Given the description of an element on the screen output the (x, y) to click on. 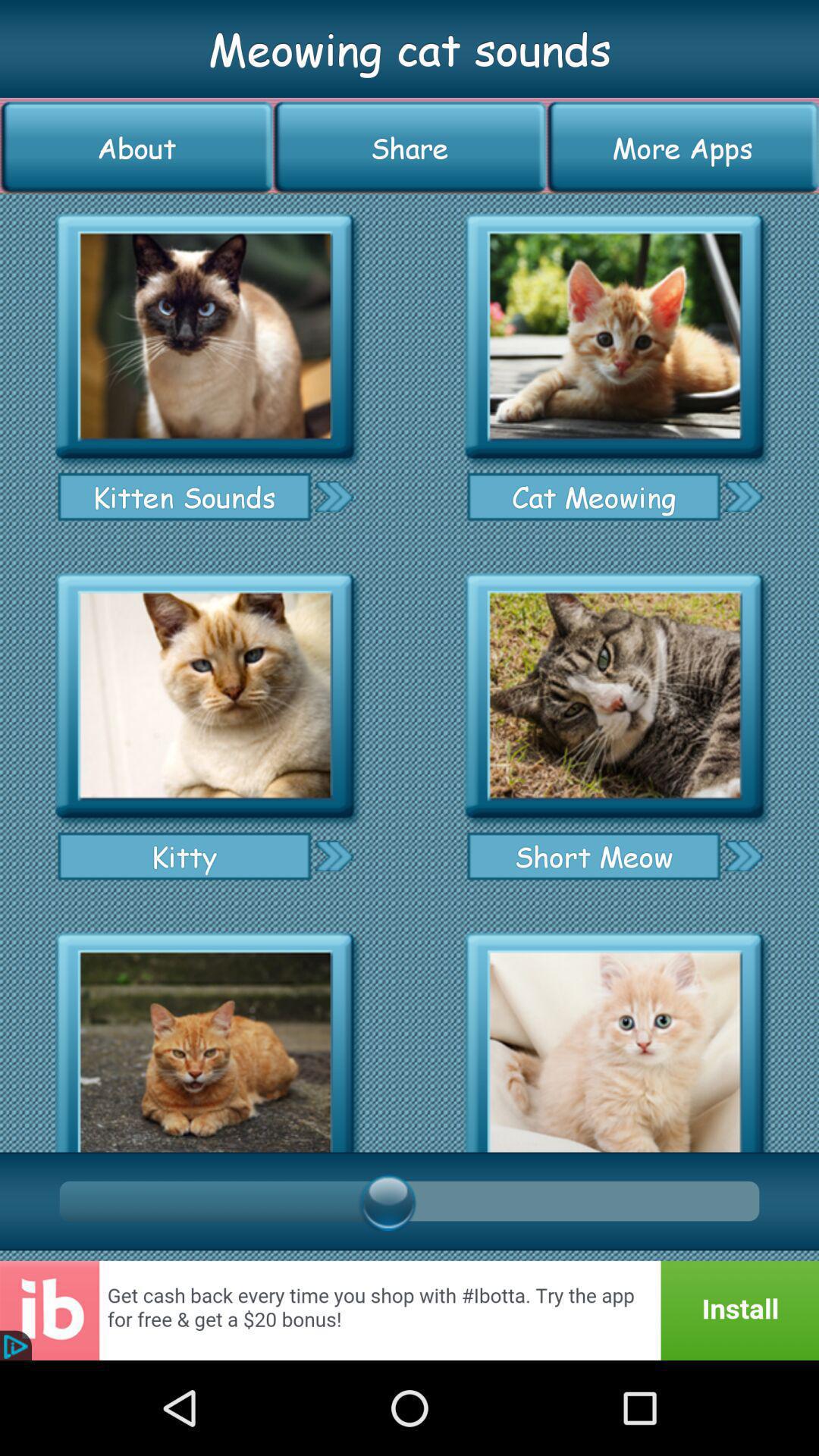
play kitten sounds (204, 336)
